Given the description of an element on the screen output the (x, y) to click on. 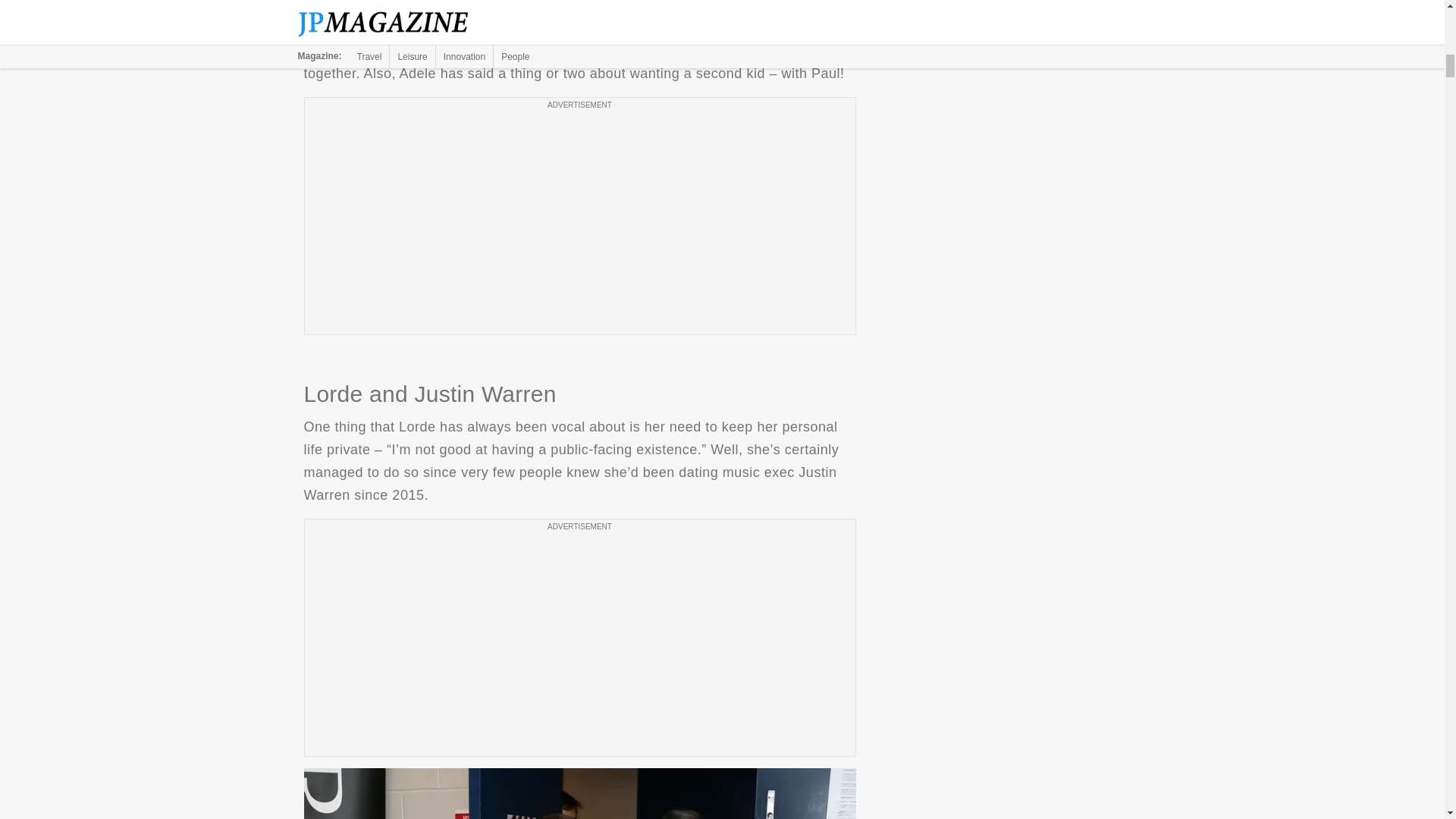
Lorde and Justin Warren (579, 793)
